Given the description of an element on the screen output the (x, y) to click on. 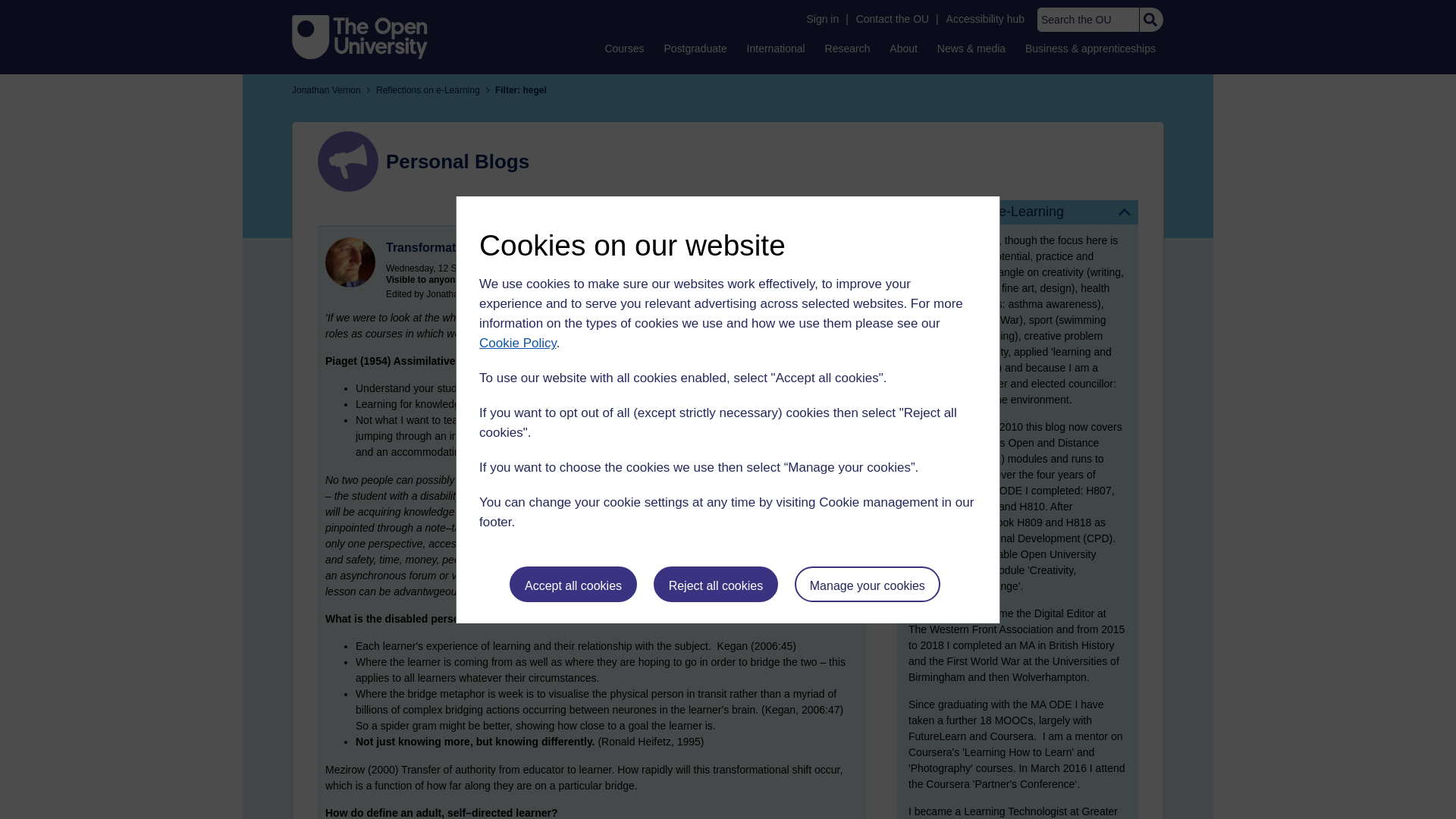
Sign in (822, 19)
Search (1149, 19)
Accessibility hub (985, 19)
Search (1149, 19)
Manage your cookies (867, 583)
International (775, 48)
Cookie Policy (517, 342)
Reject all cookies (715, 583)
Courses (623, 48)
